Given the description of an element on the screen output the (x, y) to click on. 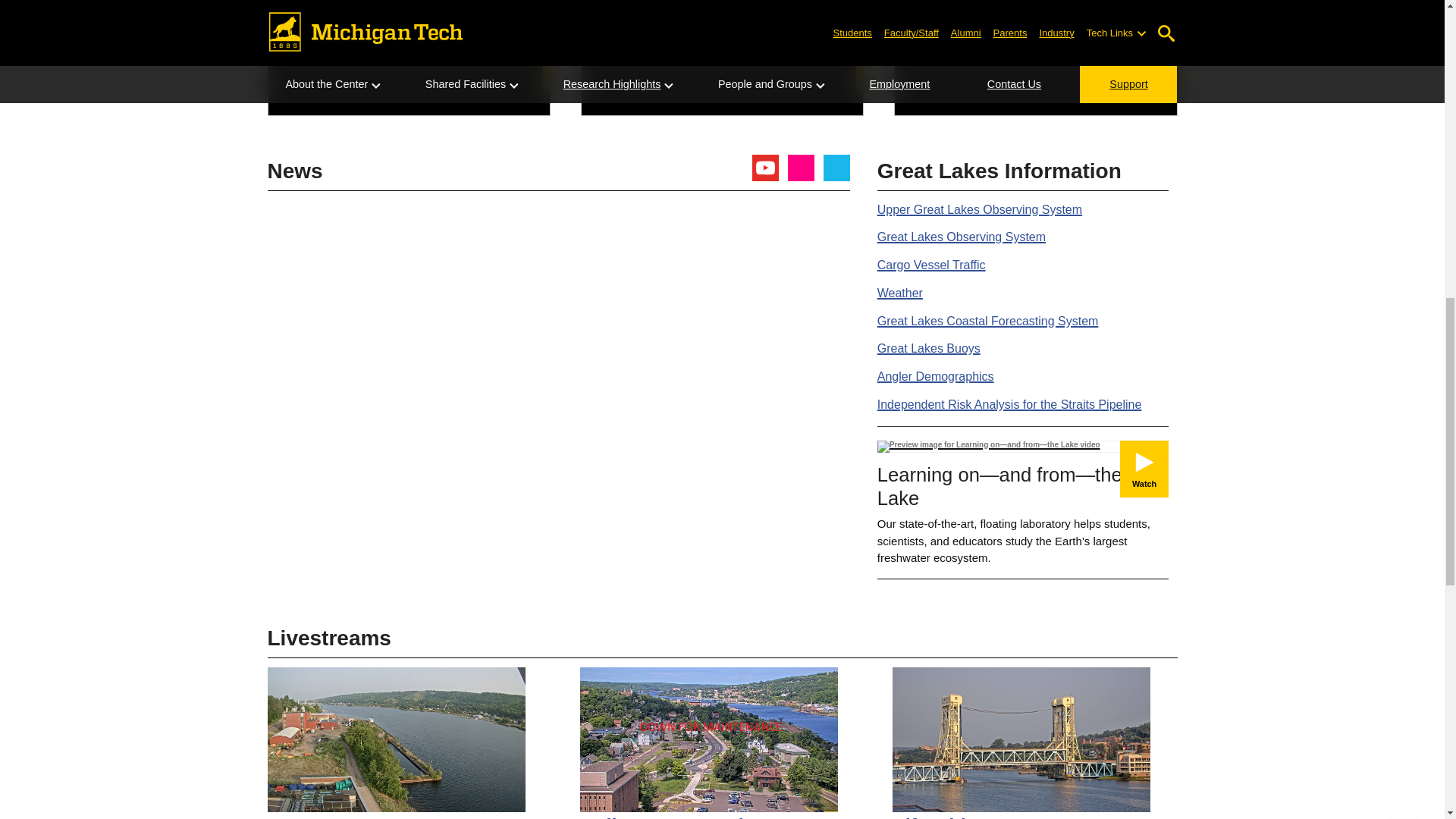
Angler Demographics (935, 376)
Watch (1143, 469)
